Given the description of an element on the screen output the (x, y) to click on. 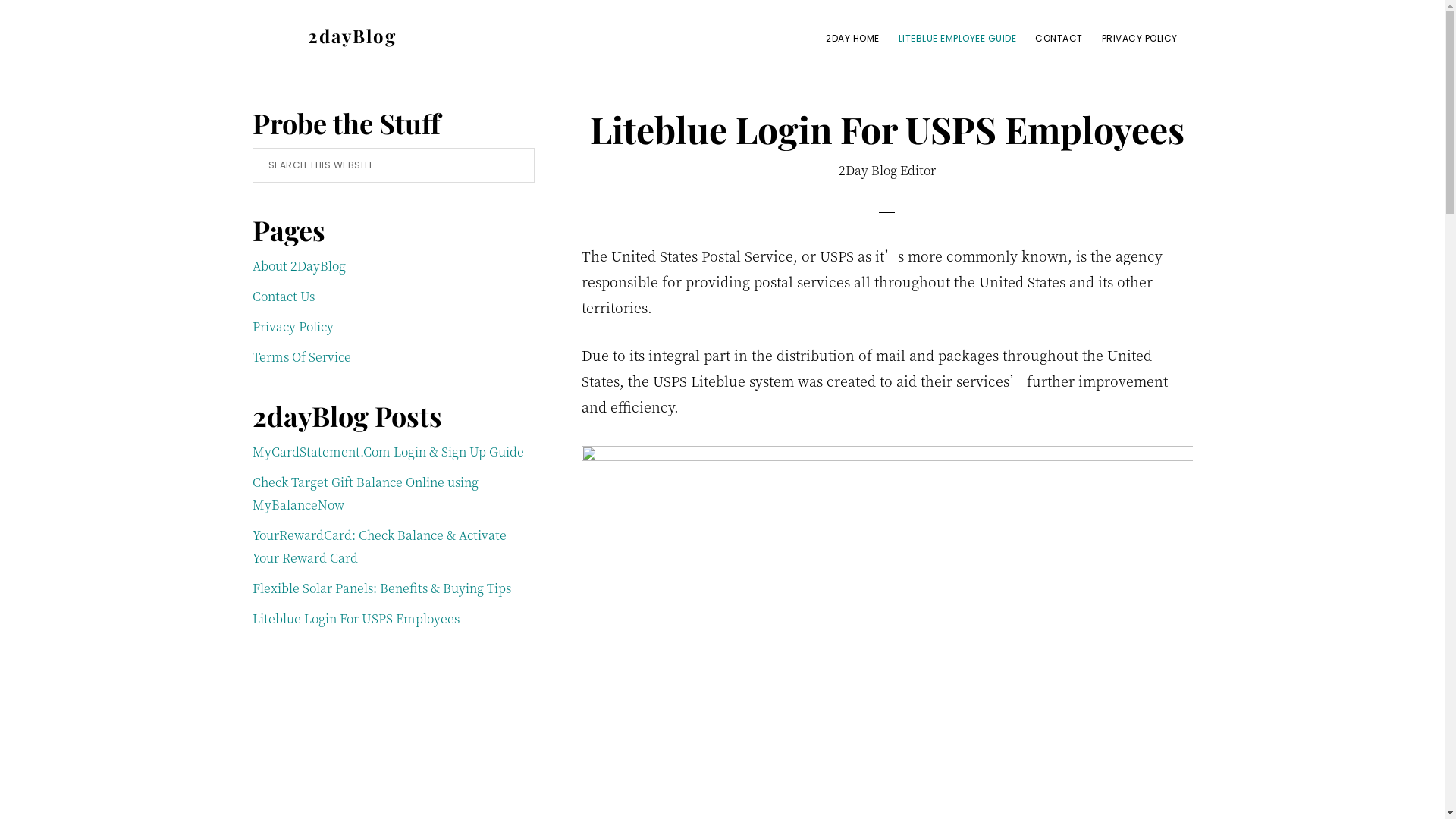
Liteblue Login For USPS Employees Element type: text (354, 618)
Terms Of Service Element type: text (300, 356)
Contact Us Element type: text (282, 295)
LITEBLUE EMPLOYEE GUIDE Element type: text (956, 37)
CONTACT Element type: text (1058, 37)
Flexible Solar Panels: Benefits & Buying Tips Element type: text (380, 587)
Search Element type: text (533, 147)
2dayBlog Element type: text (351, 35)
Privacy Policy Element type: text (291, 326)
2DAY HOME Element type: text (852, 37)
Check Target Gift Balance Online using MyBalanceNow Element type: text (364, 493)
About 2DayBlog Element type: text (298, 265)
YourRewardCard: Check Balance & Activate Your Reward Card Element type: text (378, 546)
MyCardStatement.Com Login & Sign Up Guide Element type: text (387, 451)
PRIVACY POLICY Element type: text (1138, 37)
Skip to main content Element type: text (0, 0)
